Given the description of an element on the screen output the (x, y) to click on. 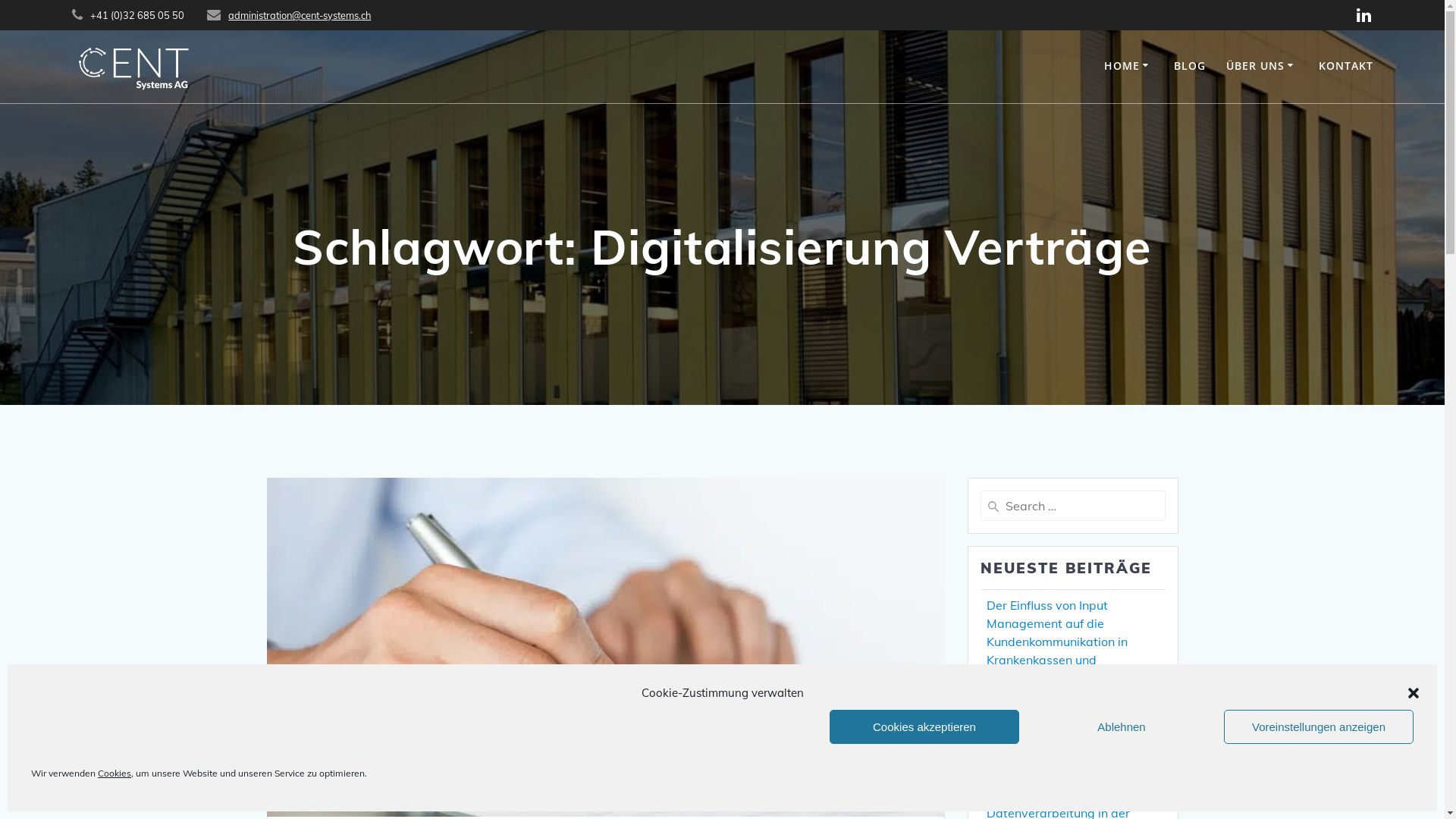
Voreinstellungen anzeigen Element type: text (1318, 726)
BLOG Element type: text (1189, 66)
administration@cent-systems.ch Element type: text (299, 15)
KONTAKT Element type: text (1345, 66)
Ablehnen Element type: text (1121, 726)
HOME Element type: text (1128, 66)
Cookies akzeptieren Element type: text (924, 726)
Cookies Element type: text (114, 772)
